Given the description of an element on the screen output the (x, y) to click on. 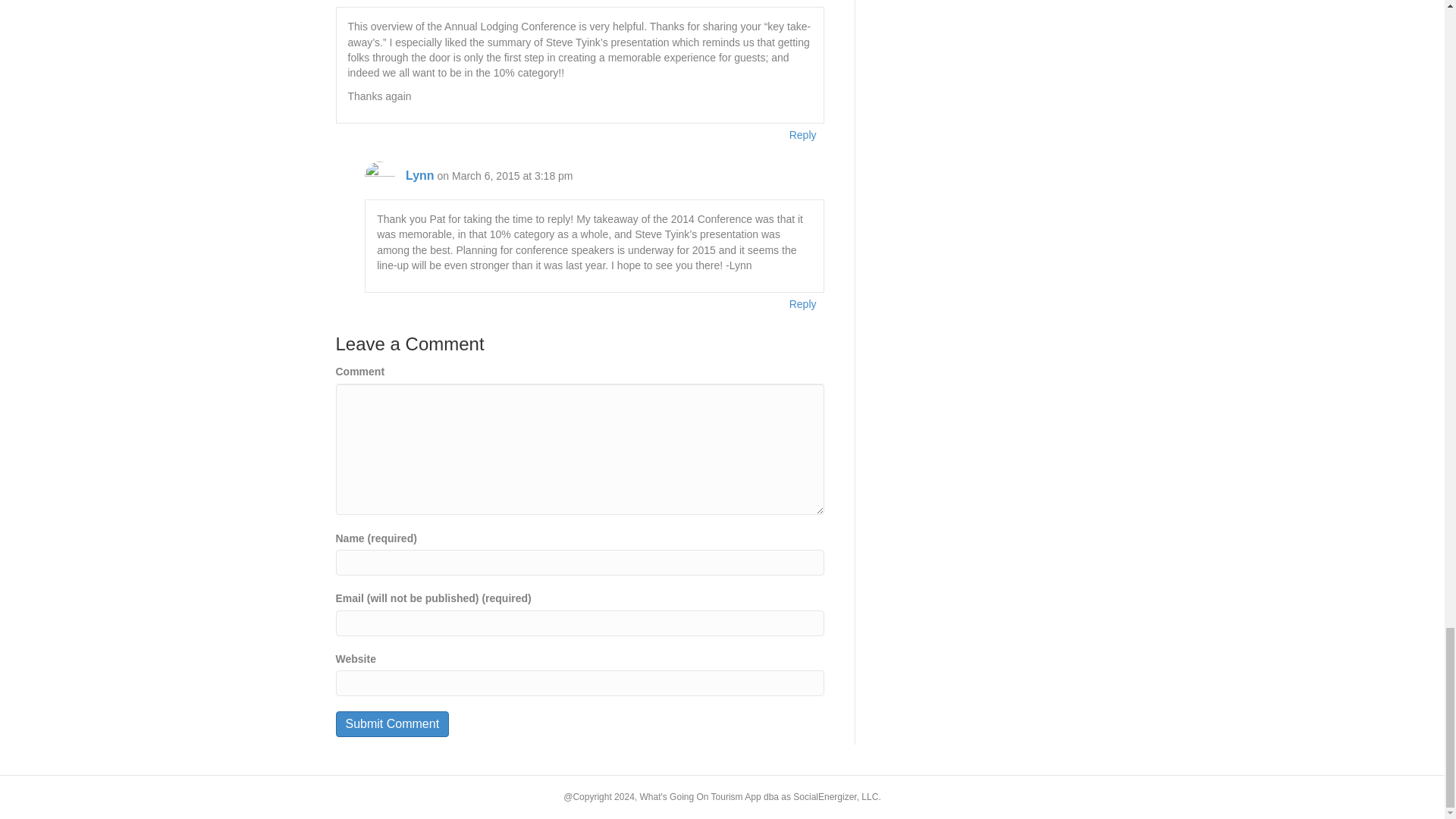
Lynn (419, 174)
Reply (803, 134)
Submit Comment (391, 723)
Submit Comment (391, 723)
Reply (803, 303)
